Given the description of an element on the screen output the (x, y) to click on. 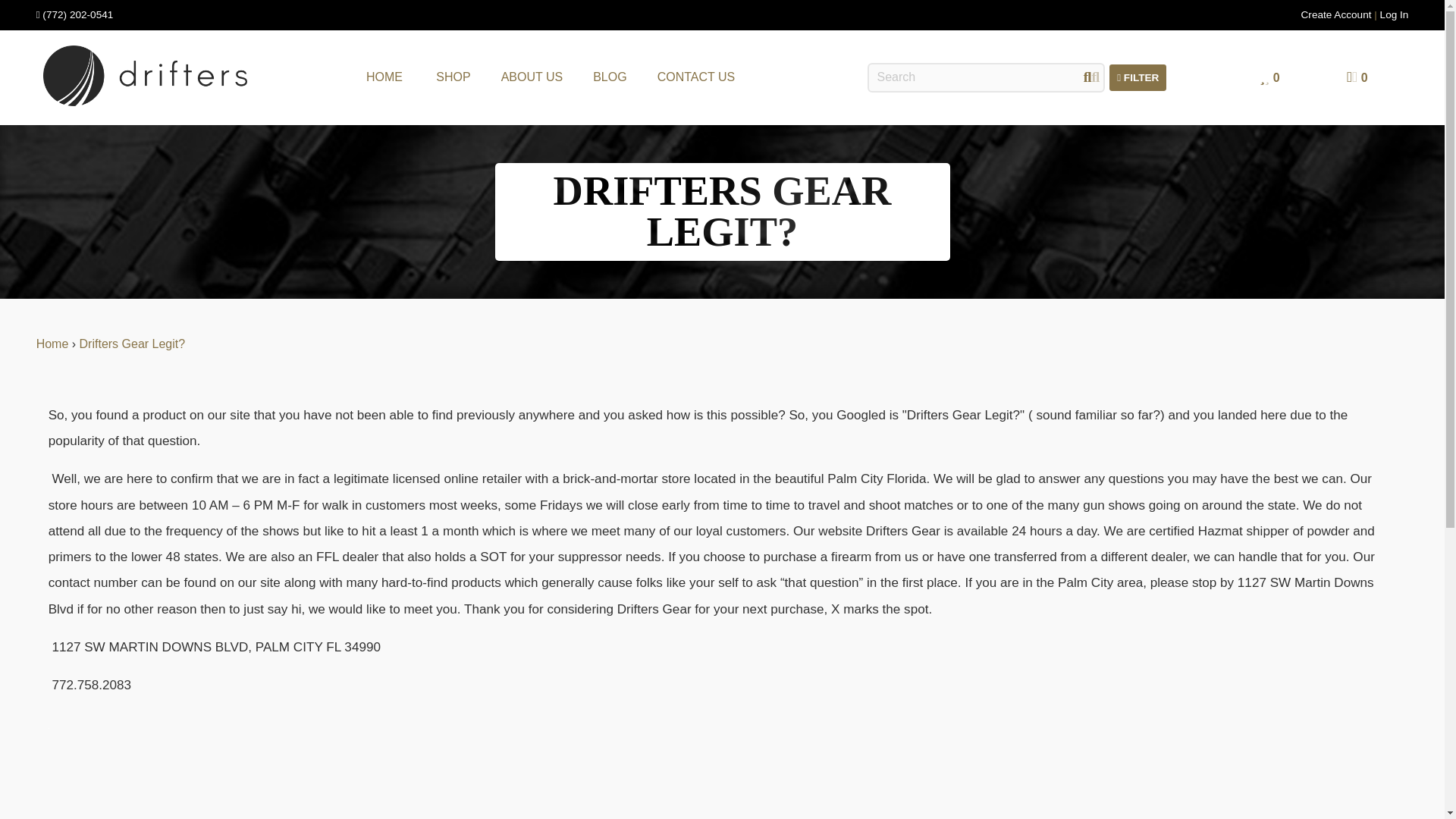
HOME (384, 76)
Log In (1394, 14)
Create Account (1336, 14)
